Given the description of an element on the screen output the (x, y) to click on. 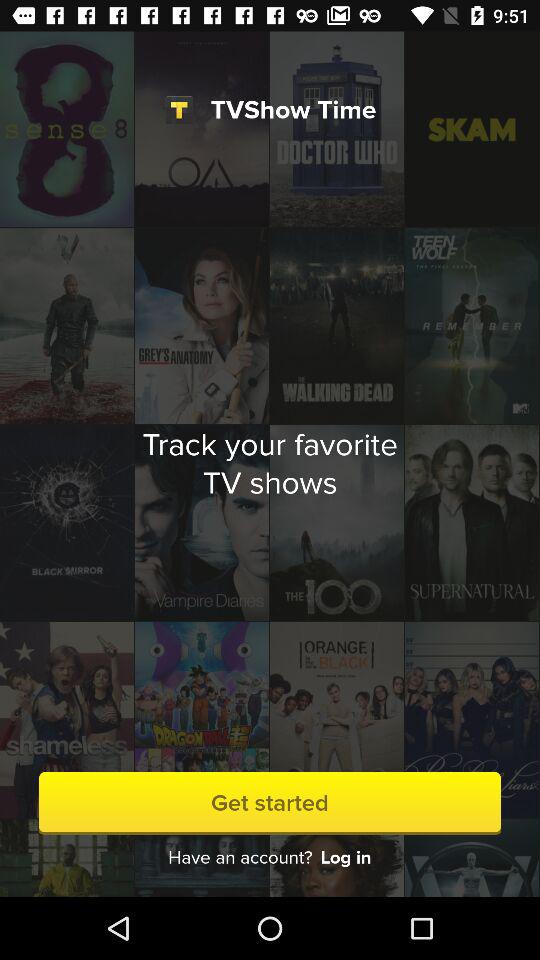
tap icon next to the have an account? item (345, 857)
